Given the description of an element on the screen output the (x, y) to click on. 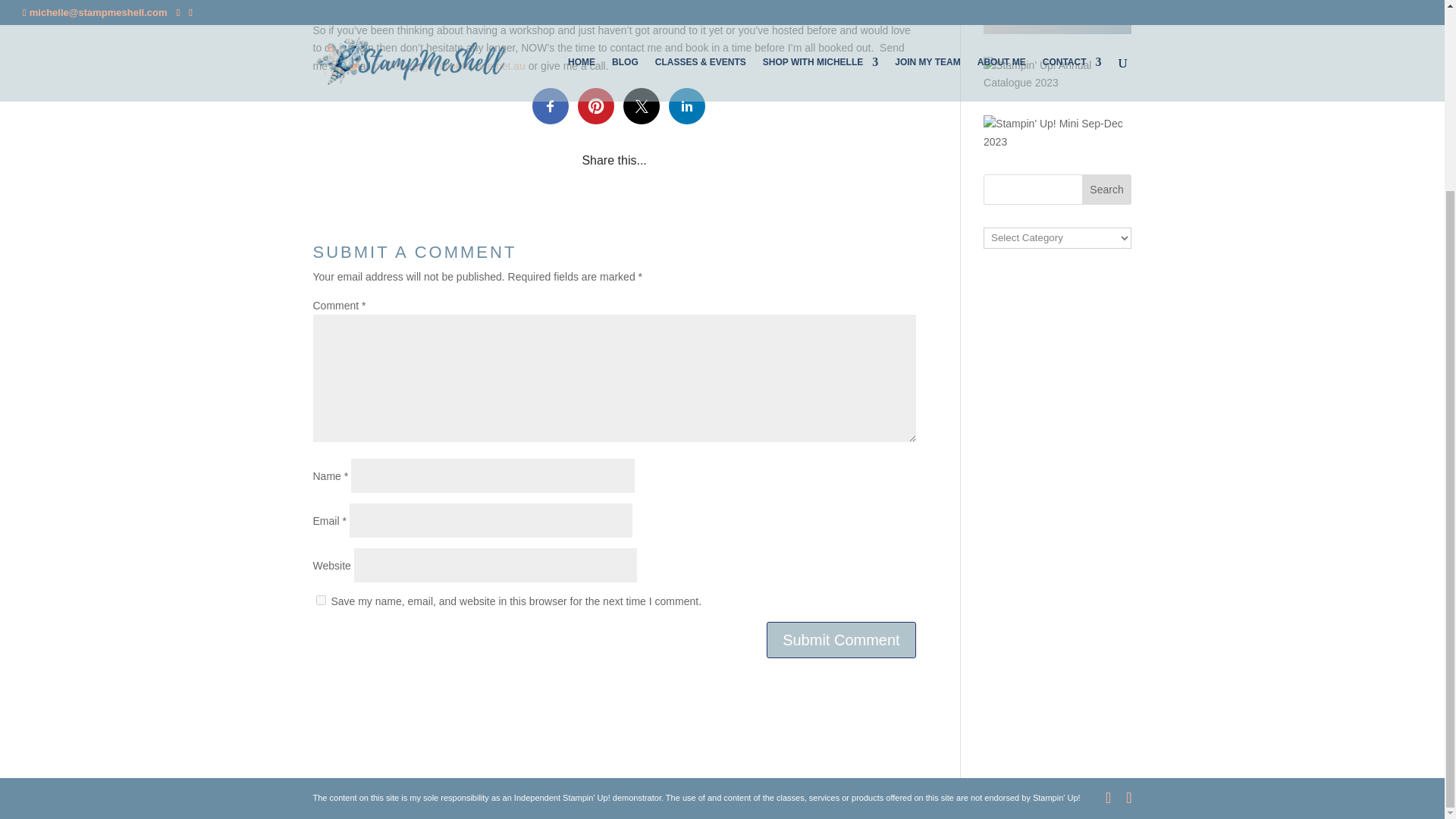
Search (1106, 189)
Submit Comment (841, 639)
Search (1106, 189)
yes (319, 600)
Submit Comment (841, 639)
